Given the description of an element on the screen output the (x, y) to click on. 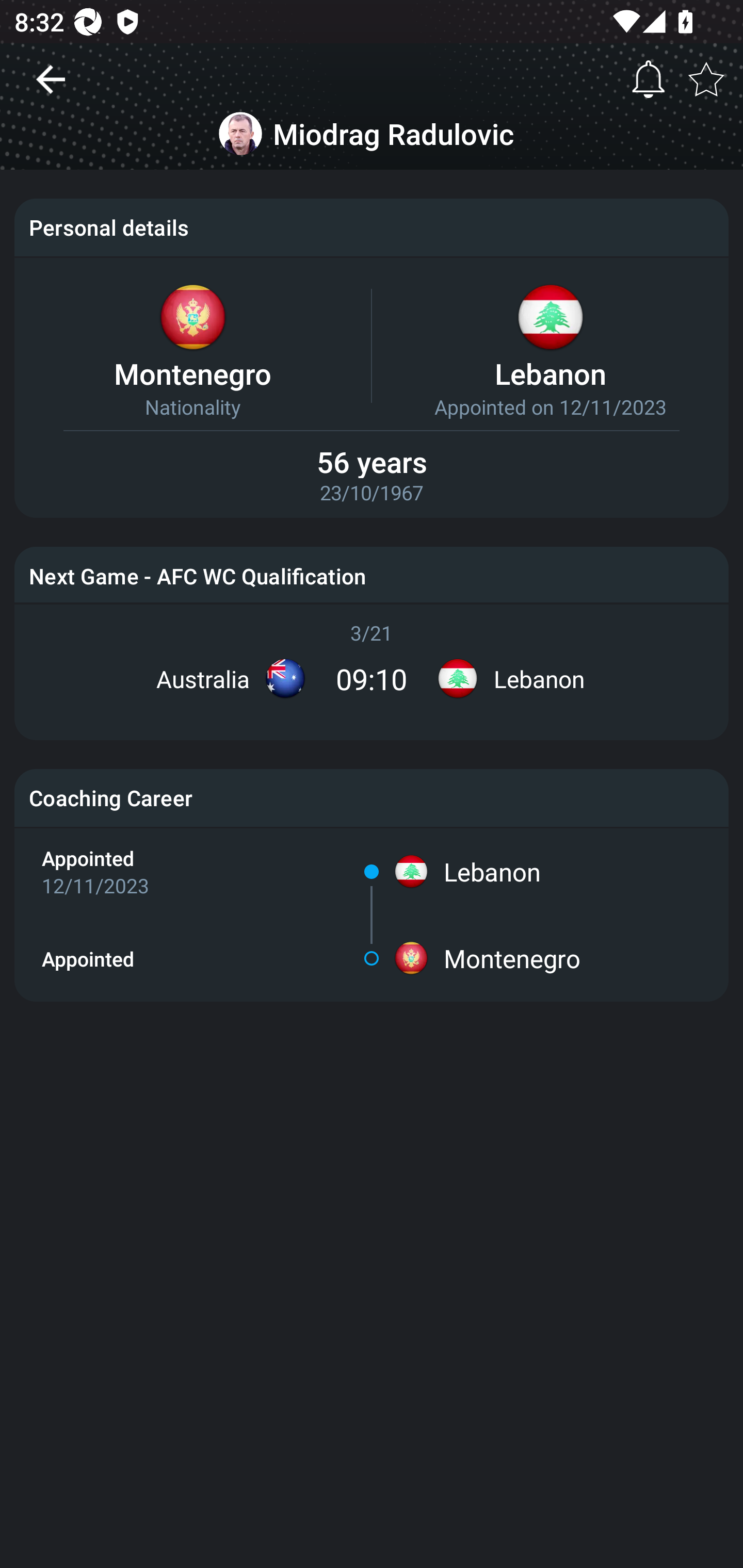
Navigate up (50, 86)
Personal details (371, 227)
3/21 Australia 09:10 Lebanon (371, 665)
Coaching Career (371, 797)
Lebanon (491, 871)
Montenegro (511, 957)
